Given the description of an element on the screen output the (x, y) to click on. 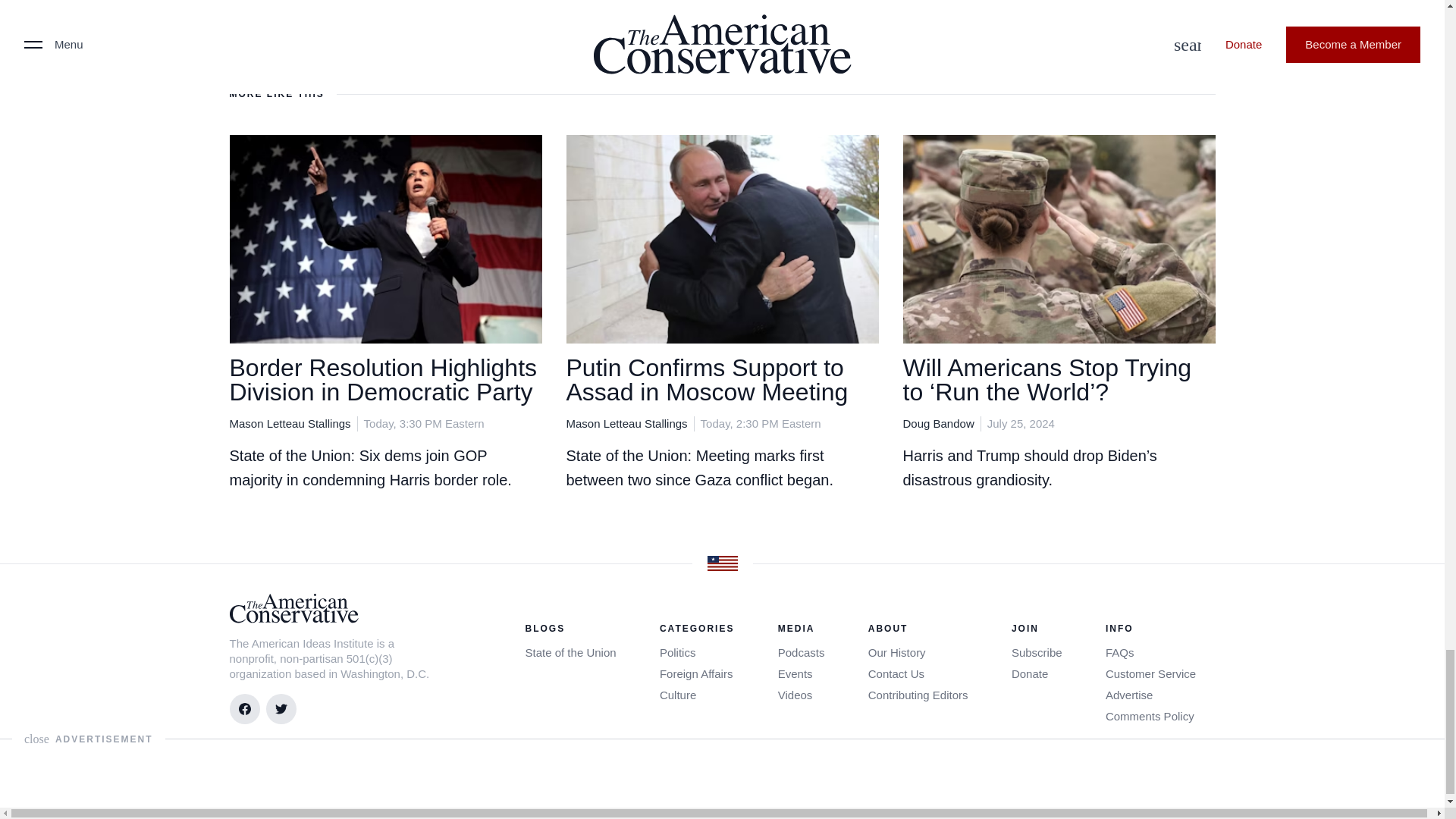
Mason Letteau Stallings (289, 422)
Border Resolution Highlights Division in Democratic Party (382, 379)
